Given the description of an element on the screen output the (x, y) to click on. 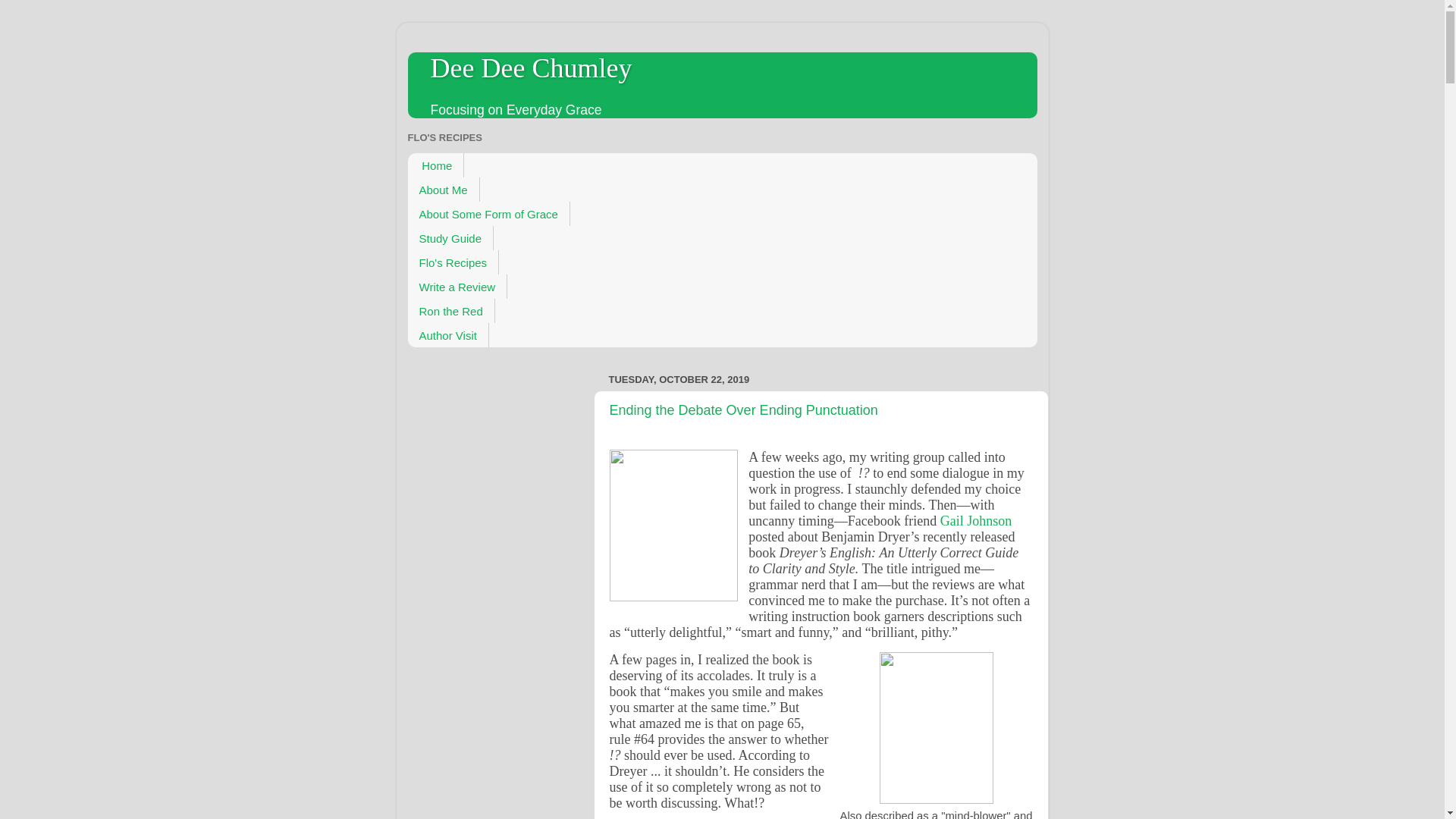
About Some Form of Grace (488, 213)
Write a Review (457, 286)
Study Guide (451, 238)
Author Visit (448, 334)
About Me (443, 189)
Gail Johnson (975, 520)
Dee Dee Chumley (530, 68)
Flo's Recipes (453, 262)
Ending the Debate Over Ending Punctuation (743, 409)
Home (435, 165)
Ron the Red (451, 310)
